Given the description of an element on the screen output the (x, y) to click on. 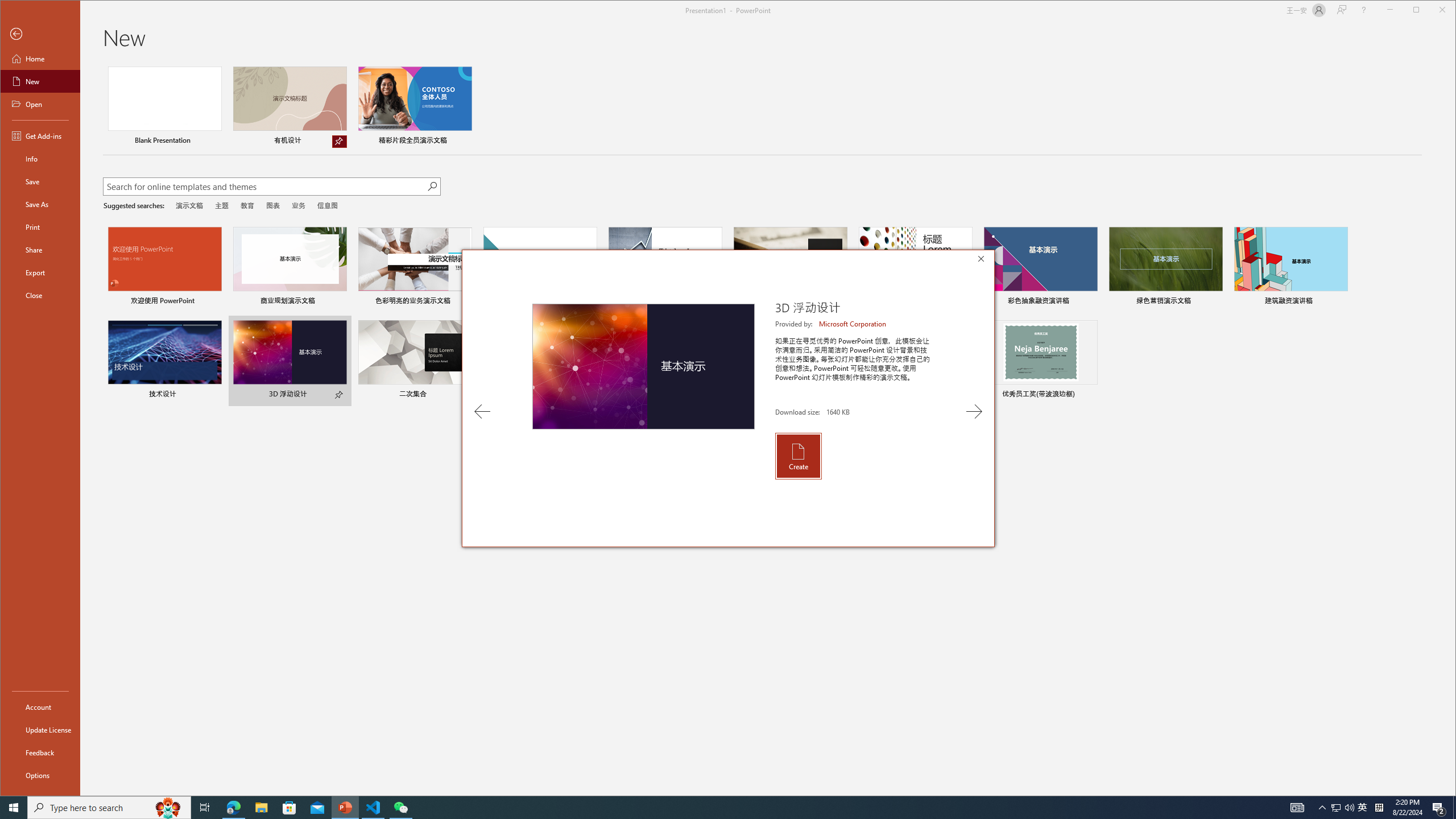
WeChat - 1 running window (400, 807)
New (40, 80)
Pin to list (1090, 395)
Options (40, 775)
